Given the description of an element on the screen output the (x, y) to click on. 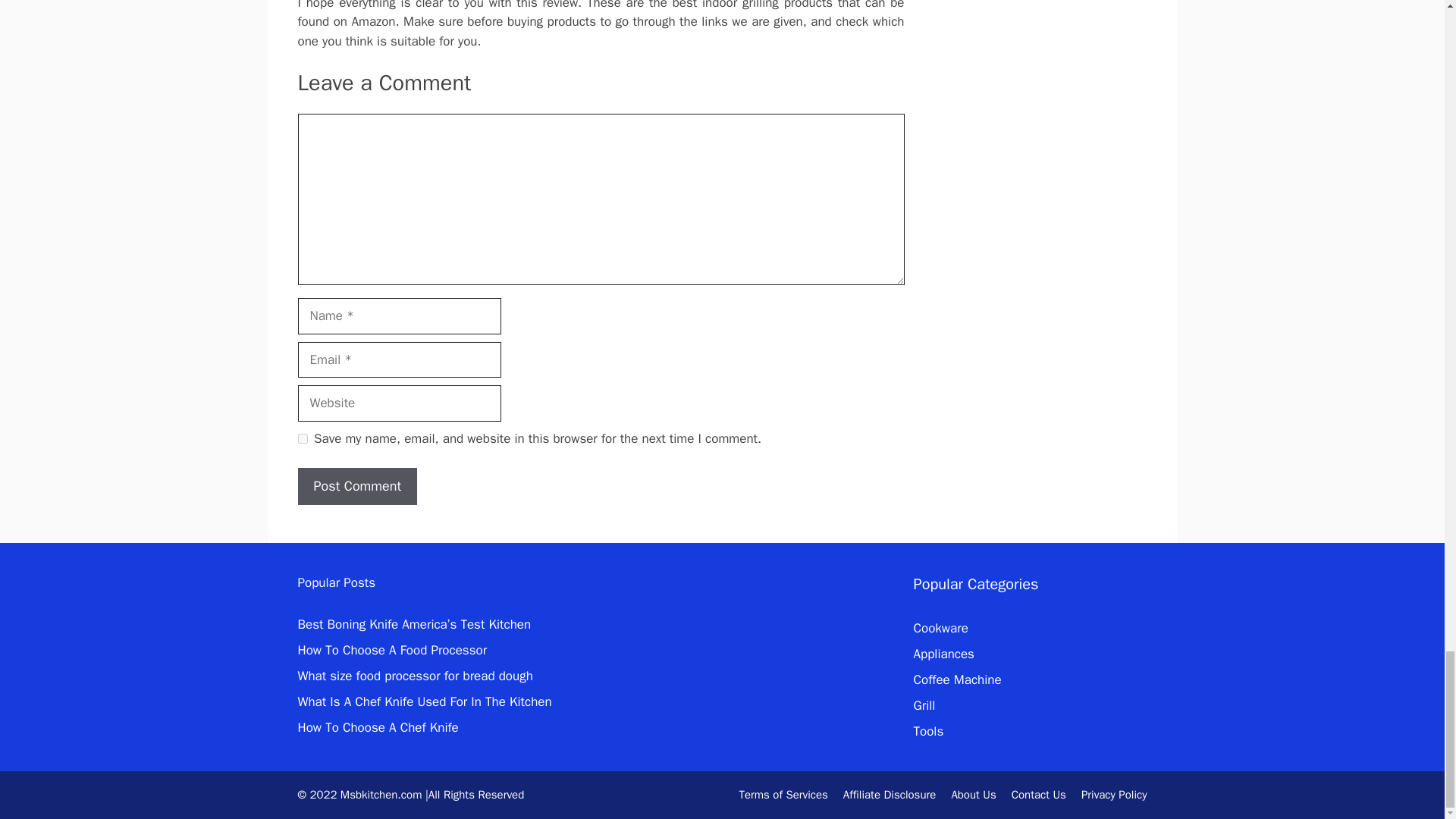
Post Comment (356, 486)
Post Comment (356, 486)
yes (302, 438)
